Given the description of an element on the screen output the (x, y) to click on. 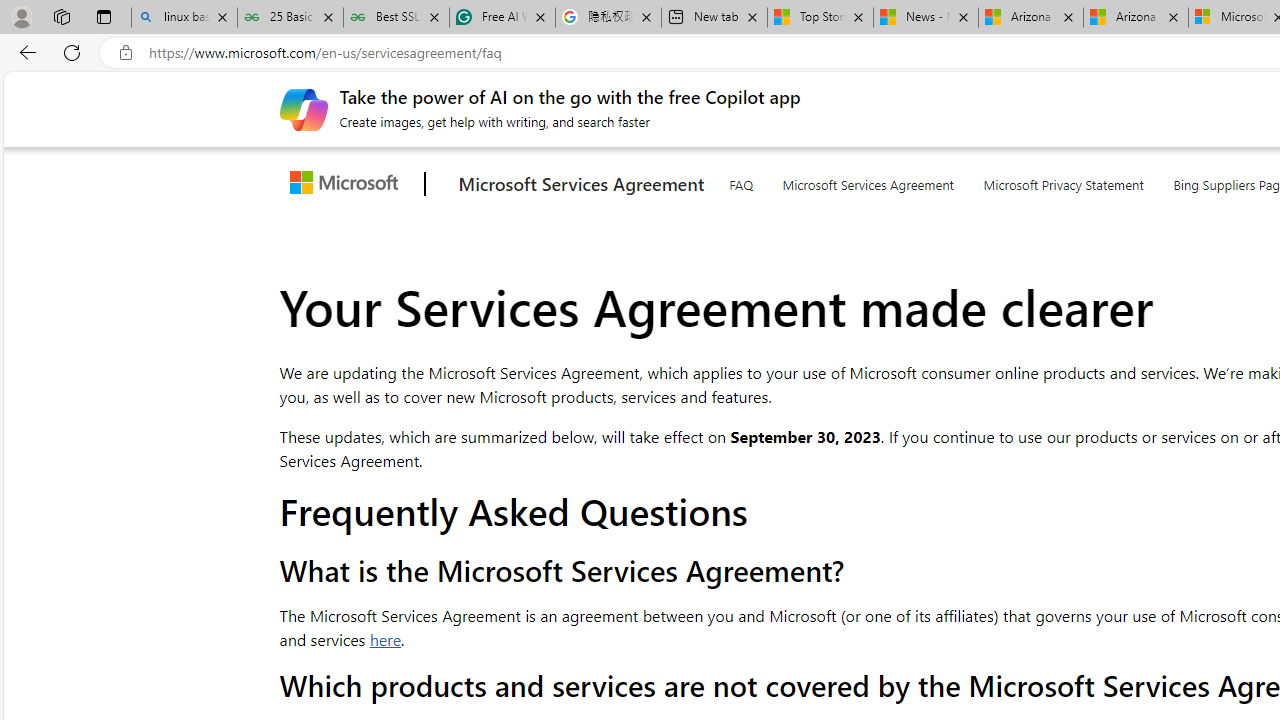
FAQ (740, 181)
here (384, 639)
linux basic - Search (183, 17)
Microsoft Privacy Statement (1063, 180)
25 Basic Linux Commands For Beginners - GeeksforGeeks (290, 17)
